Given the description of an element on the screen output the (x, y) to click on. 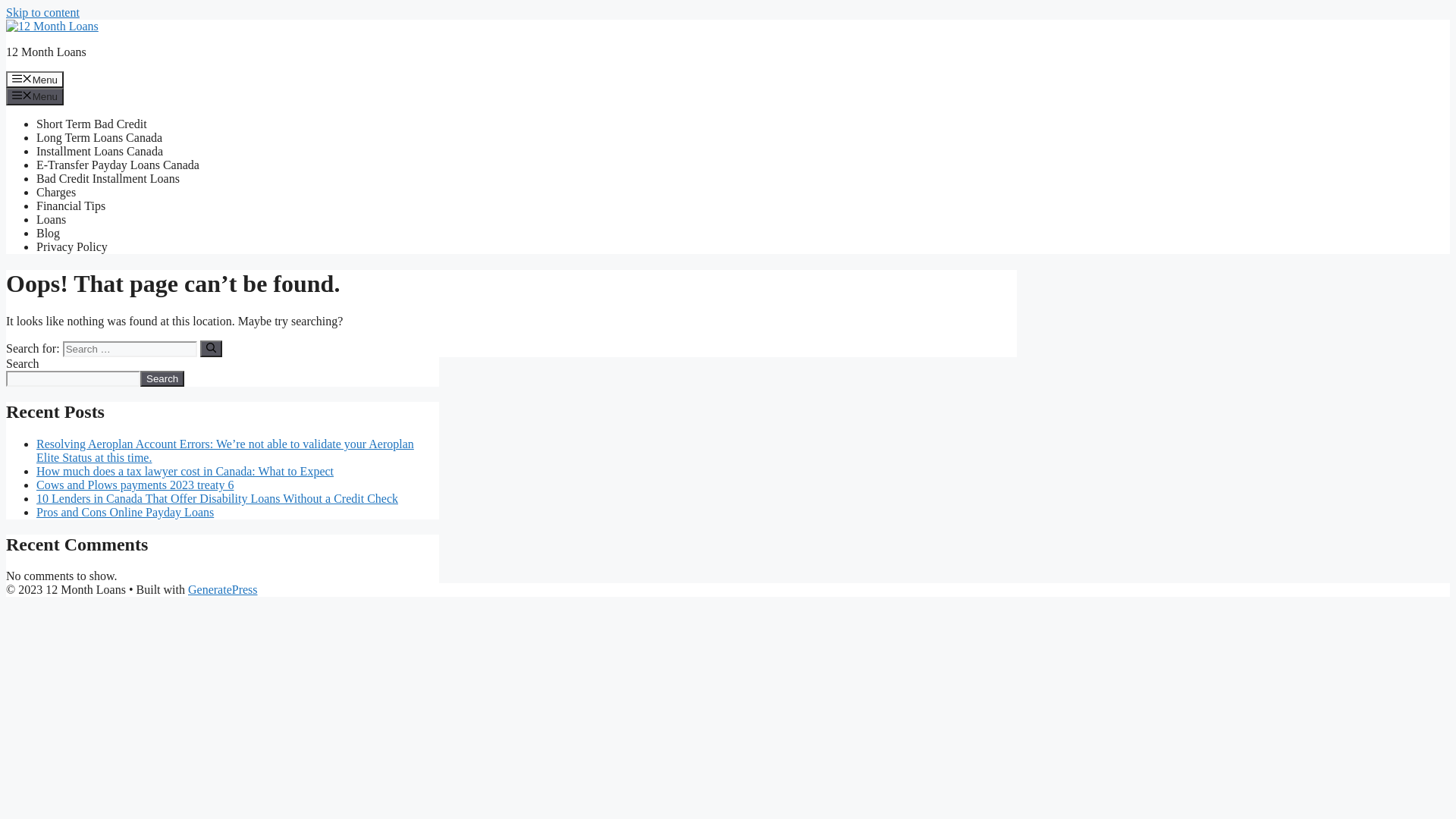
Charges Element type: text (55, 191)
Bad Credit Installment Loans Element type: text (107, 178)
GeneratePress Element type: text (222, 589)
Installment Loans Canada Element type: text (99, 150)
Privacy Policy Element type: text (71, 246)
Short Term Bad Credit Element type: text (91, 123)
Search Element type: text (162, 378)
Pros and Cons Online Payday Loans Element type: text (124, 511)
Loans Element type: text (50, 219)
Search for: Element type: hover (129, 349)
Skip to content Element type: text (42, 12)
E-Transfer Payday Loans Canada Element type: text (117, 164)
Financial Tips Element type: text (70, 205)
Menu Element type: text (34, 95)
How much does a tax lawyer cost in Canada: What to Expect Element type: text (184, 470)
Menu Element type: text (34, 79)
Blog Element type: text (47, 232)
12 Month Loans Element type: text (46, 51)
Long Term Loans Canada Element type: text (99, 137)
Cows and Plows payments 2023 treaty 6 Element type: text (134, 484)
